Given the description of an element on the screen output the (x, y) to click on. 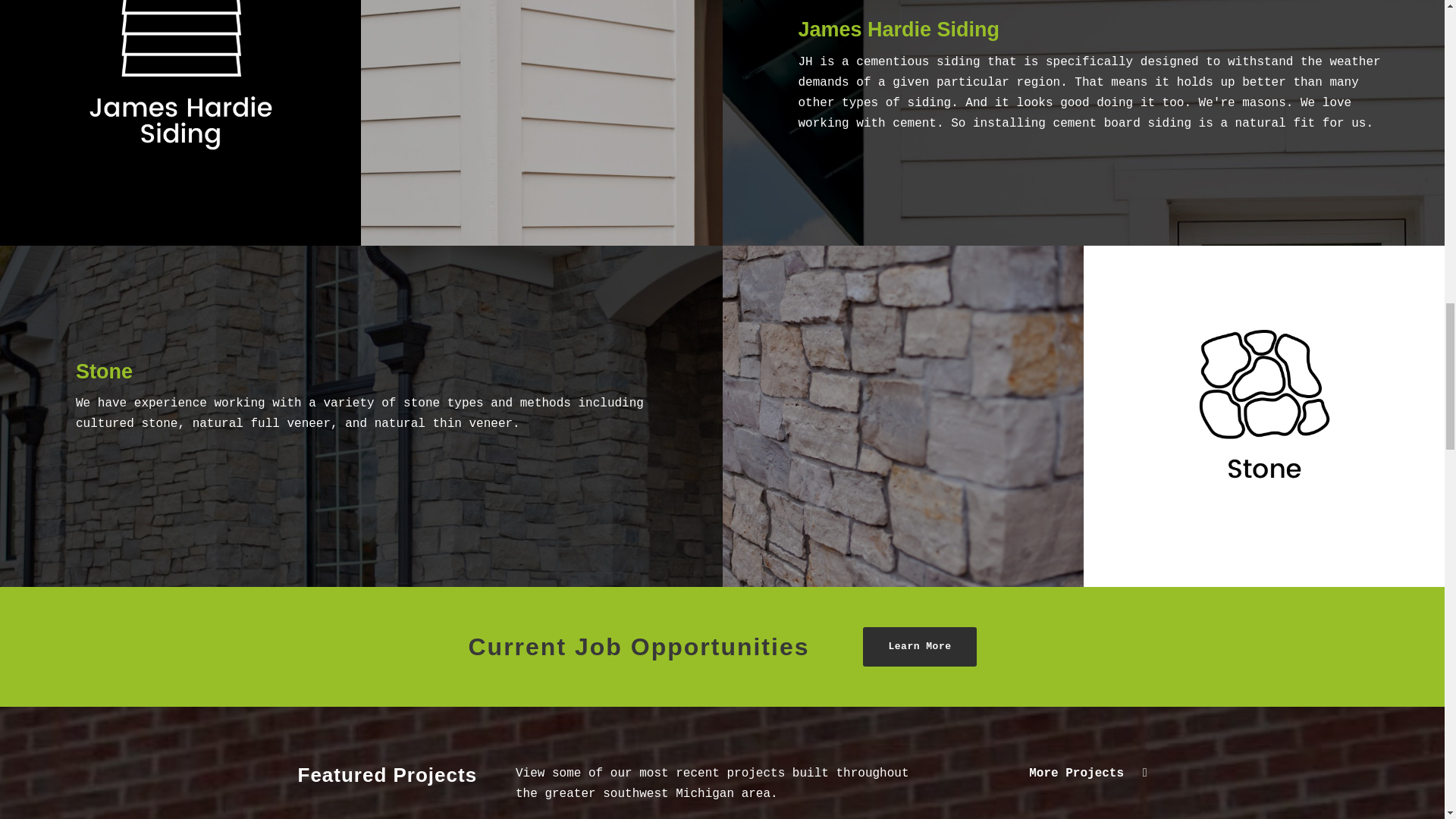
Learn More (919, 647)
More Projects (1088, 773)
jhs-title-block (180, 106)
